Given the description of an element on the screen output the (x, y) to click on. 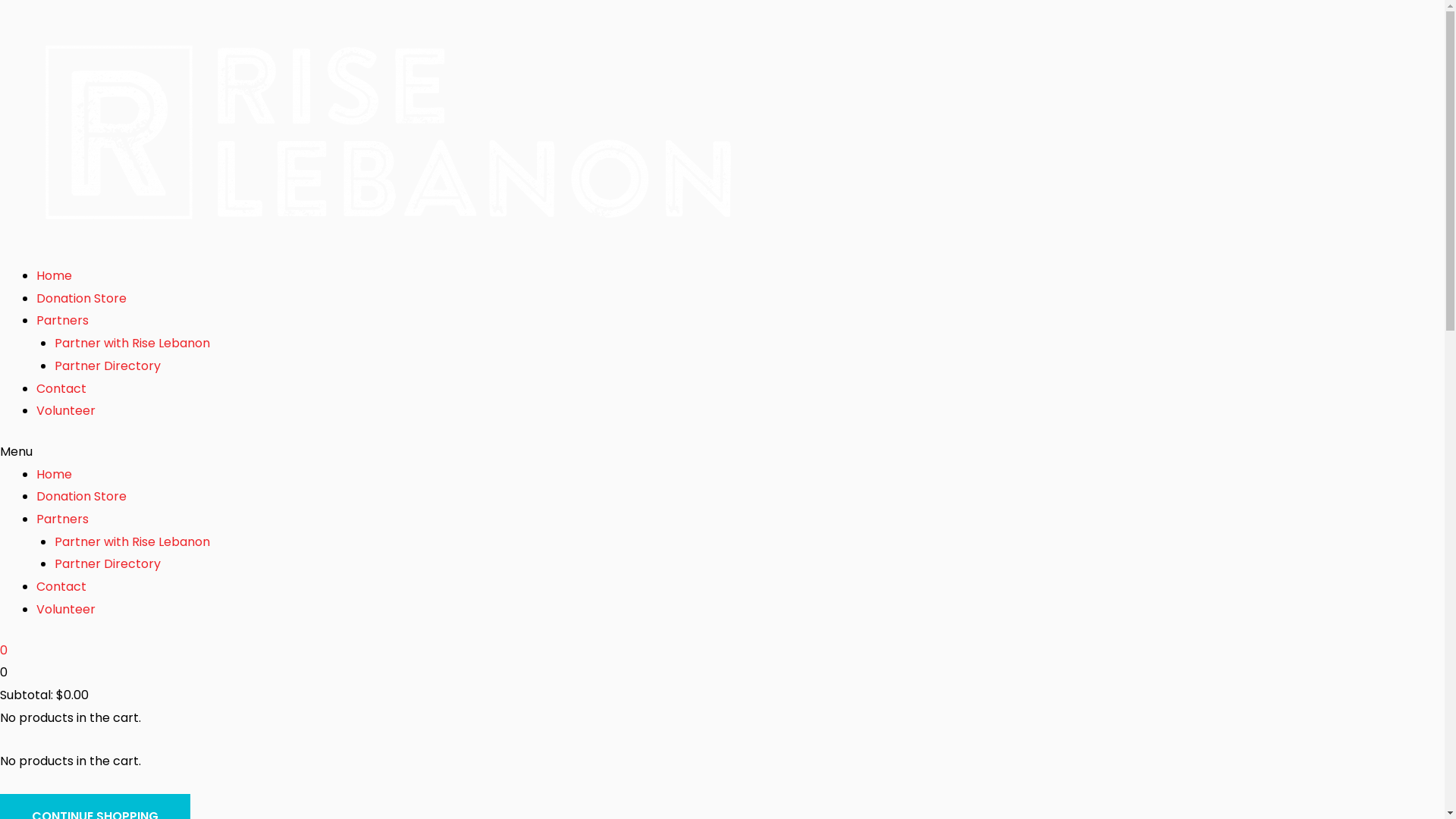
0 Element type: text (722, 650)
Partner Directory Element type: text (107, 563)
Partner with Rise Lebanon Element type: text (132, 342)
Partners Element type: text (62, 518)
Contact Element type: text (61, 586)
Donation Store Element type: text (81, 298)
Partner Directory Element type: text (107, 365)
Contact Element type: text (61, 388)
Partner with Rise Lebanon Element type: text (132, 541)
Partners Element type: text (62, 320)
Home Element type: text (54, 275)
Volunteer Element type: text (65, 410)
Volunteer Element type: text (65, 609)
Donation Store Element type: text (81, 496)
Home Element type: text (54, 474)
